Given the description of an element on the screen output the (x, y) to click on. 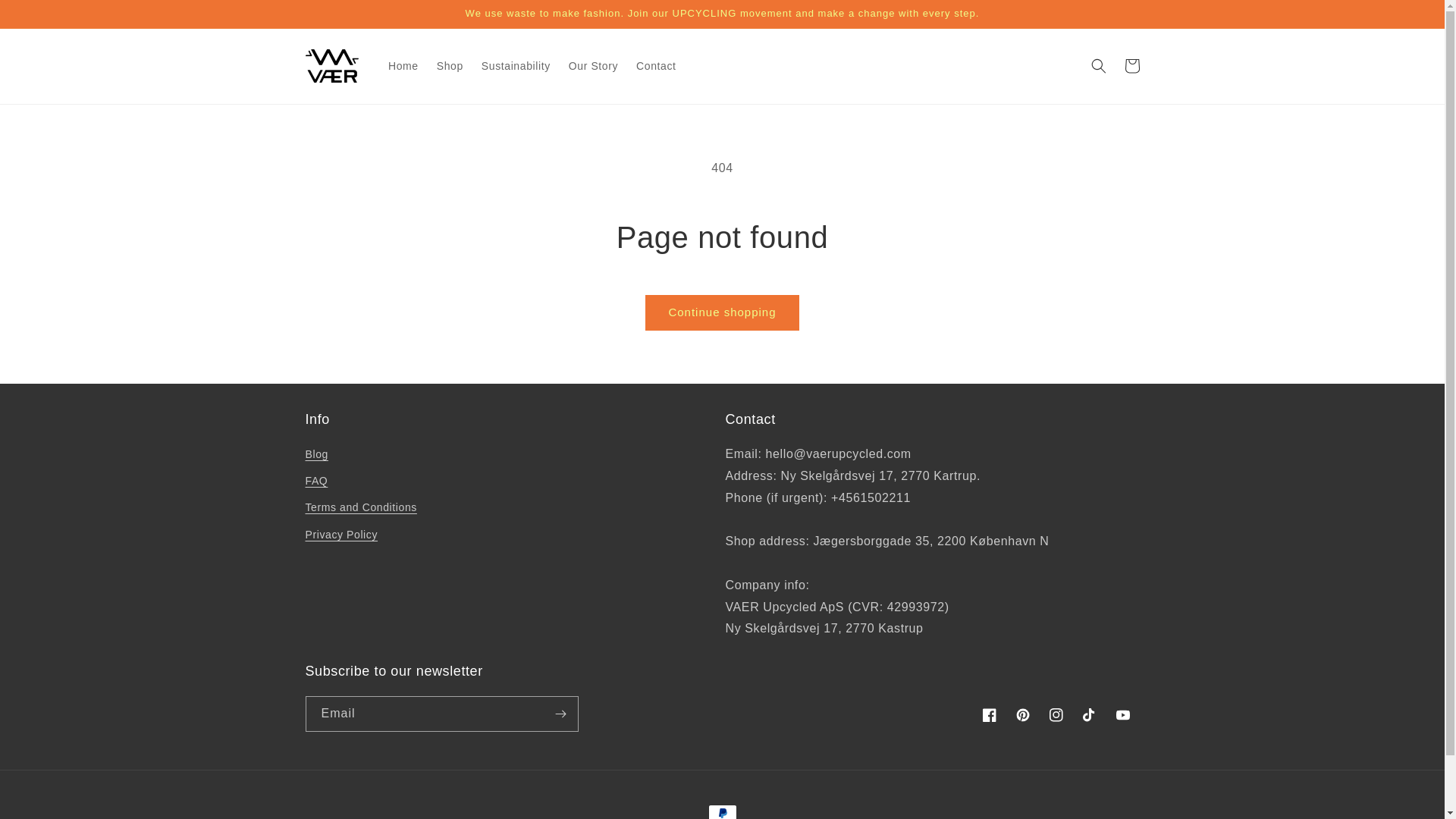
Contact (655, 65)
Cart (1131, 65)
Skip to content (45, 17)
Sustainability (515, 65)
Home (403, 65)
Pinterest (1022, 715)
YouTube (1121, 715)
TikTok (1088, 715)
Our Story (593, 65)
Terms and Conditions (360, 507)
Continue shopping (721, 312)
Blog (315, 456)
Privacy Policy (340, 534)
Facebook (989, 715)
Instagram (1055, 715)
